Given the description of an element on the screen output the (x, y) to click on. 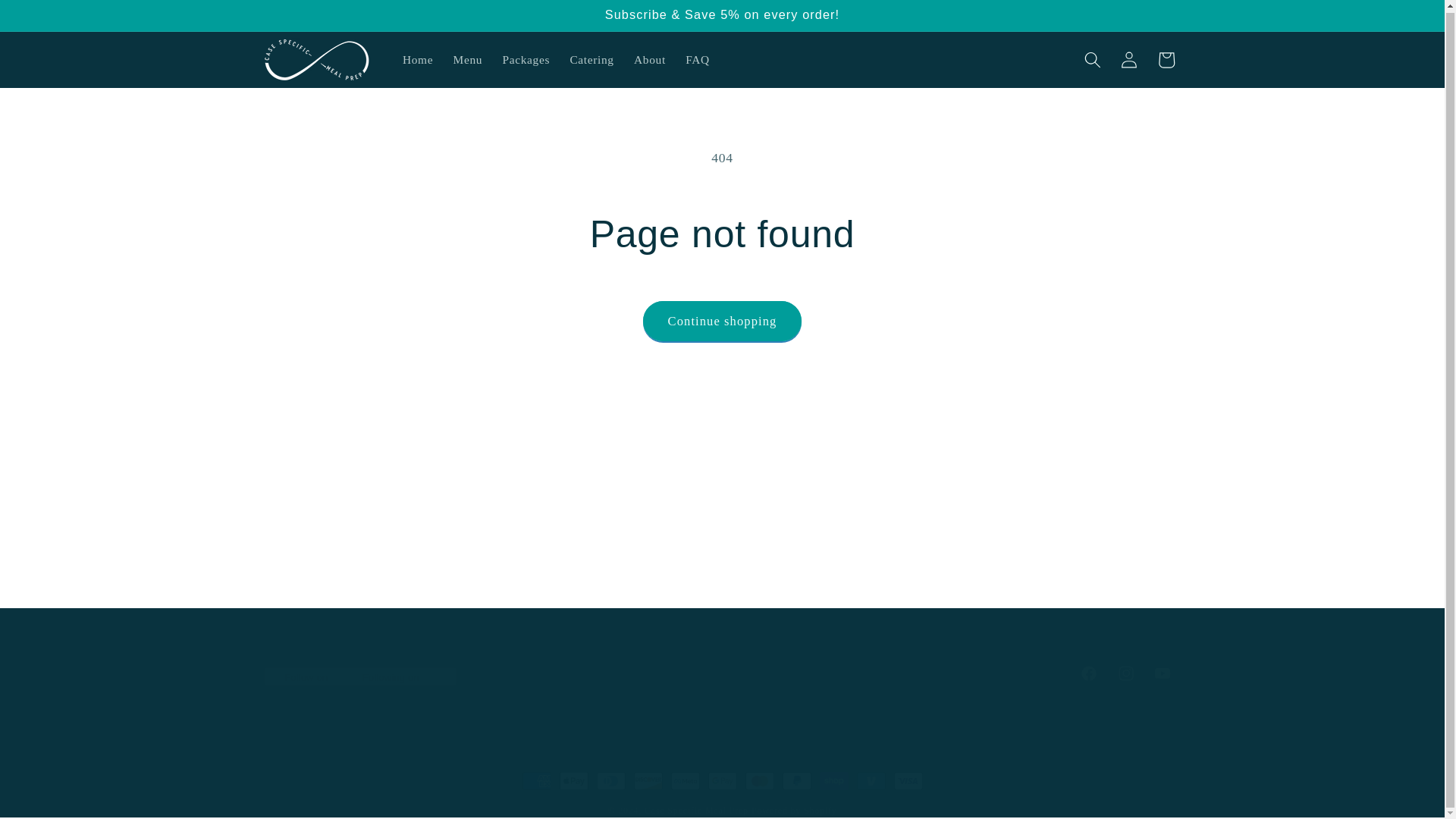
Cart (1166, 59)
Packages (525, 59)
Case Specific Meal Prep (696, 810)
Facebook (1088, 673)
Continue shopping (722, 321)
Home (418, 59)
Powered by Shopify (794, 810)
Catering (721, 673)
About (591, 59)
